Given the description of an element on the screen output the (x, y) to click on. 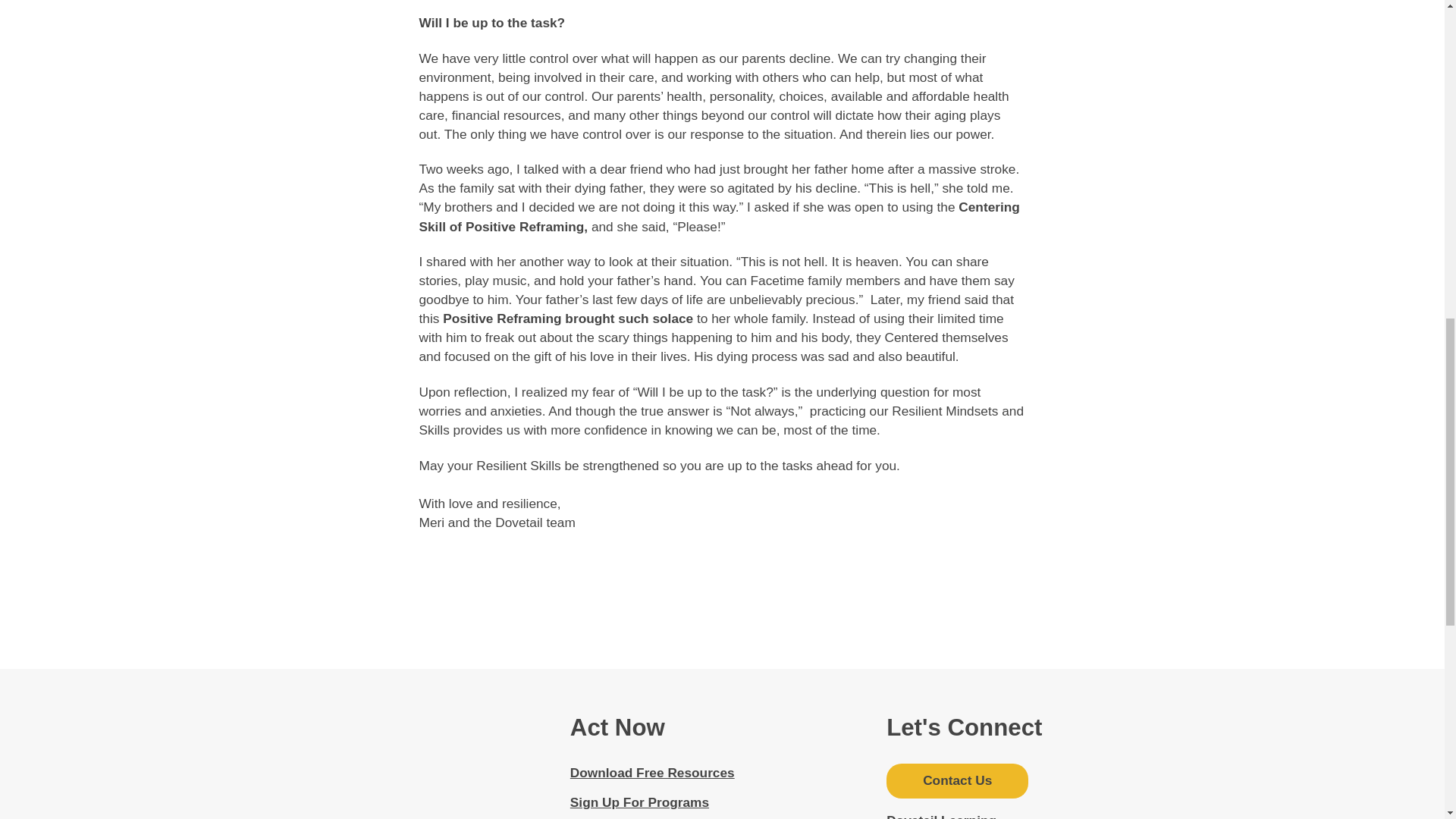
Download Free Resources (652, 772)
Contact Us (956, 780)
Sign Up For Programs (639, 801)
